Given the description of an element on the screen output the (x, y) to click on. 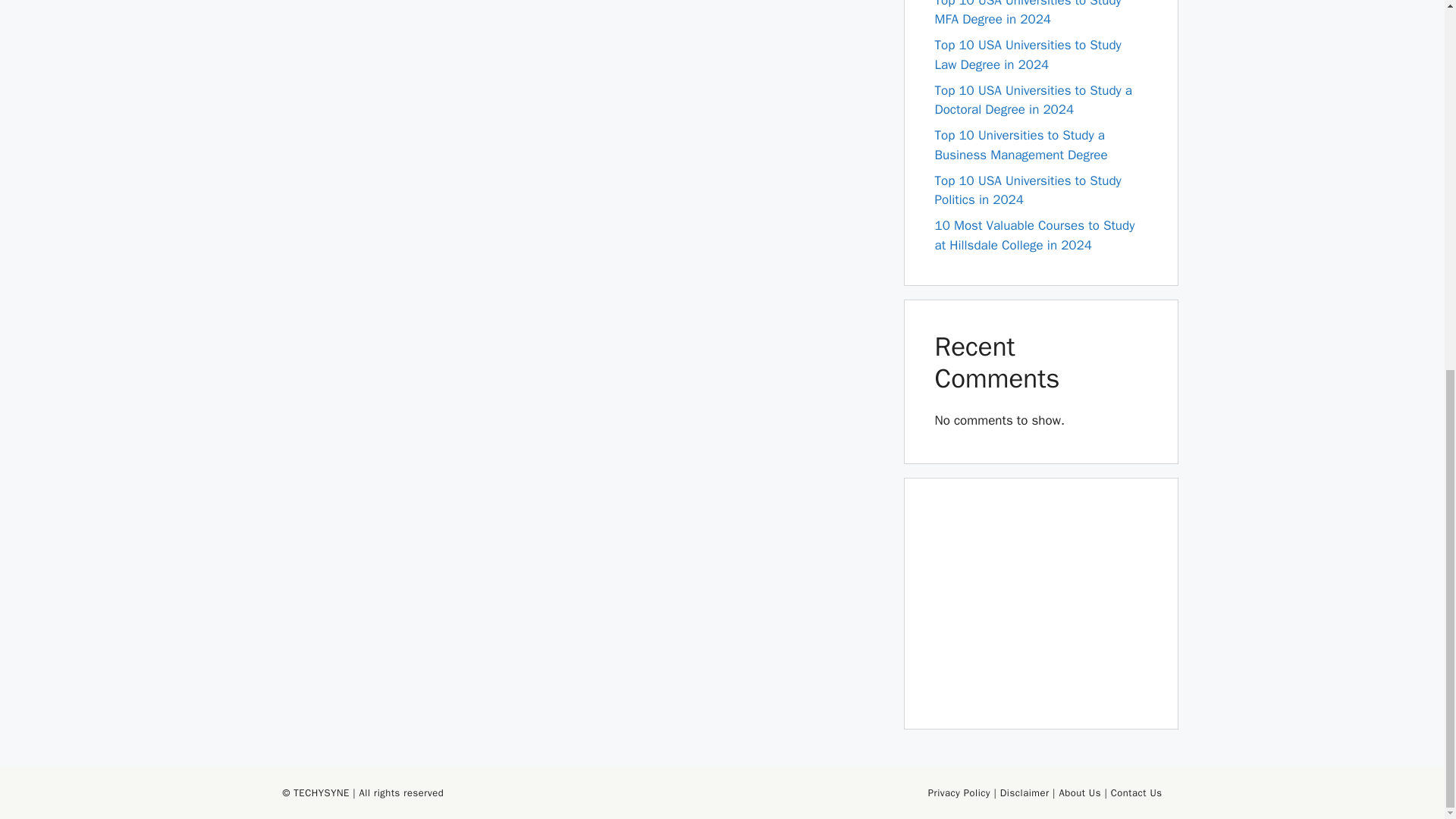
Top 10 USA Universities to Study Politics in 2024 (1027, 189)
About Us (1079, 792)
Contact Us (1135, 792)
Top 10 USA Universities to Study MFA Degree in 2024 (1027, 13)
Top 10 USA Universities to Study Law Degree in 2024 (1027, 54)
Privacy Policy (959, 792)
Top 10 Universities to Study a Business Management Degree (1020, 144)
Top 10 USA Universities to Study a Doctoral Degree in 2024 (1032, 99)
Disclaimer (1024, 792)
